Given the description of an element on the screen output the (x, y) to click on. 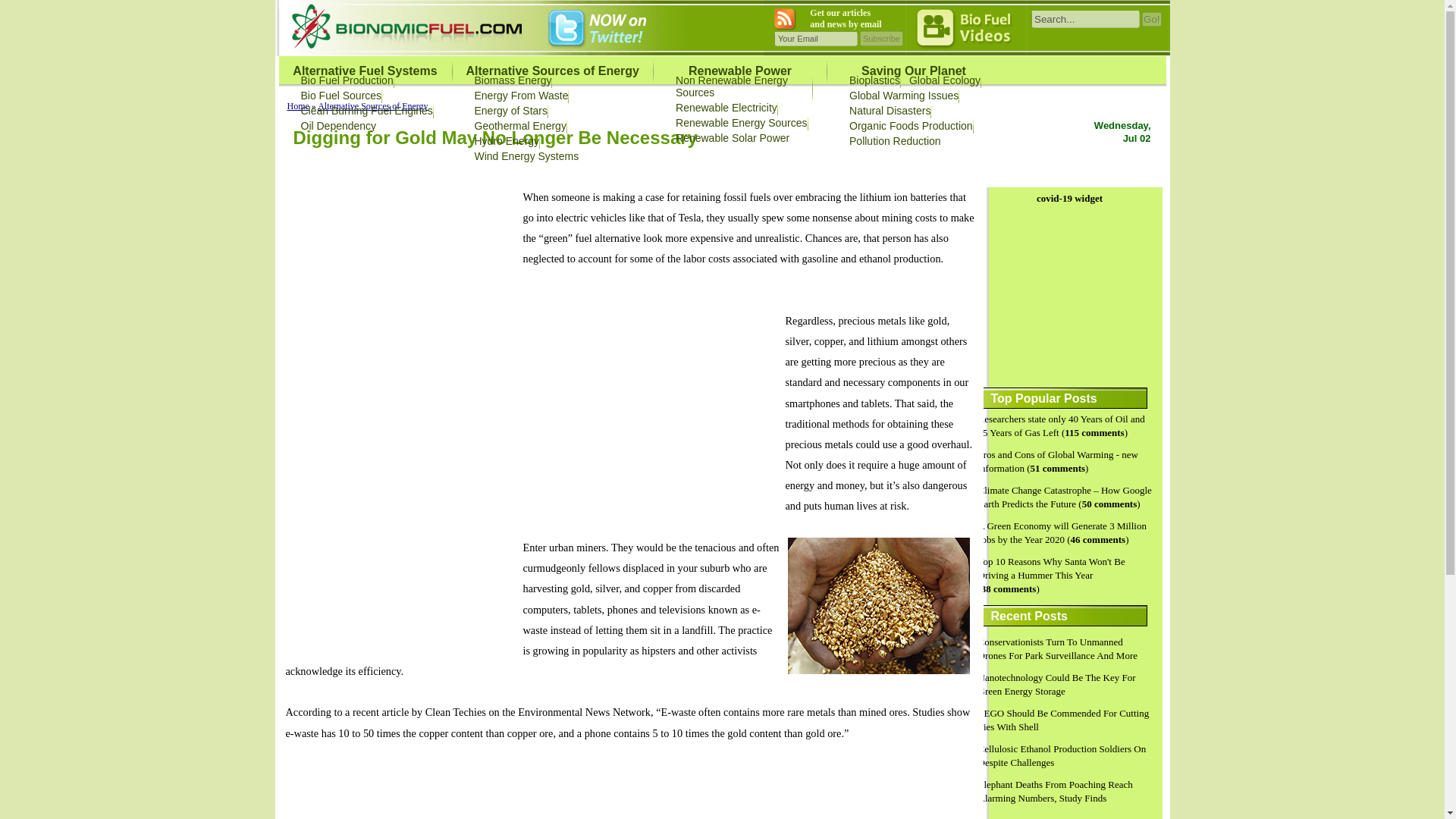
Oil Dependency (337, 125)
Energy of Stars (511, 110)
Organic Foods Production (910, 125)
Natural Disasters (889, 110)
Energy From Waste (521, 95)
Renewable Electricity (726, 107)
Digging for Gold May No Longer Be Necessary (494, 137)
Non Renewable Energy Sources (731, 86)
Search... (1085, 18)
Renewable Solar Power (732, 137)
Bio Fuel Production (346, 80)
Global Warming Issues (903, 95)
Saving Our Planet (913, 70)
Bio Fuel Sources (340, 95)
